Given the description of an element on the screen output the (x, y) to click on. 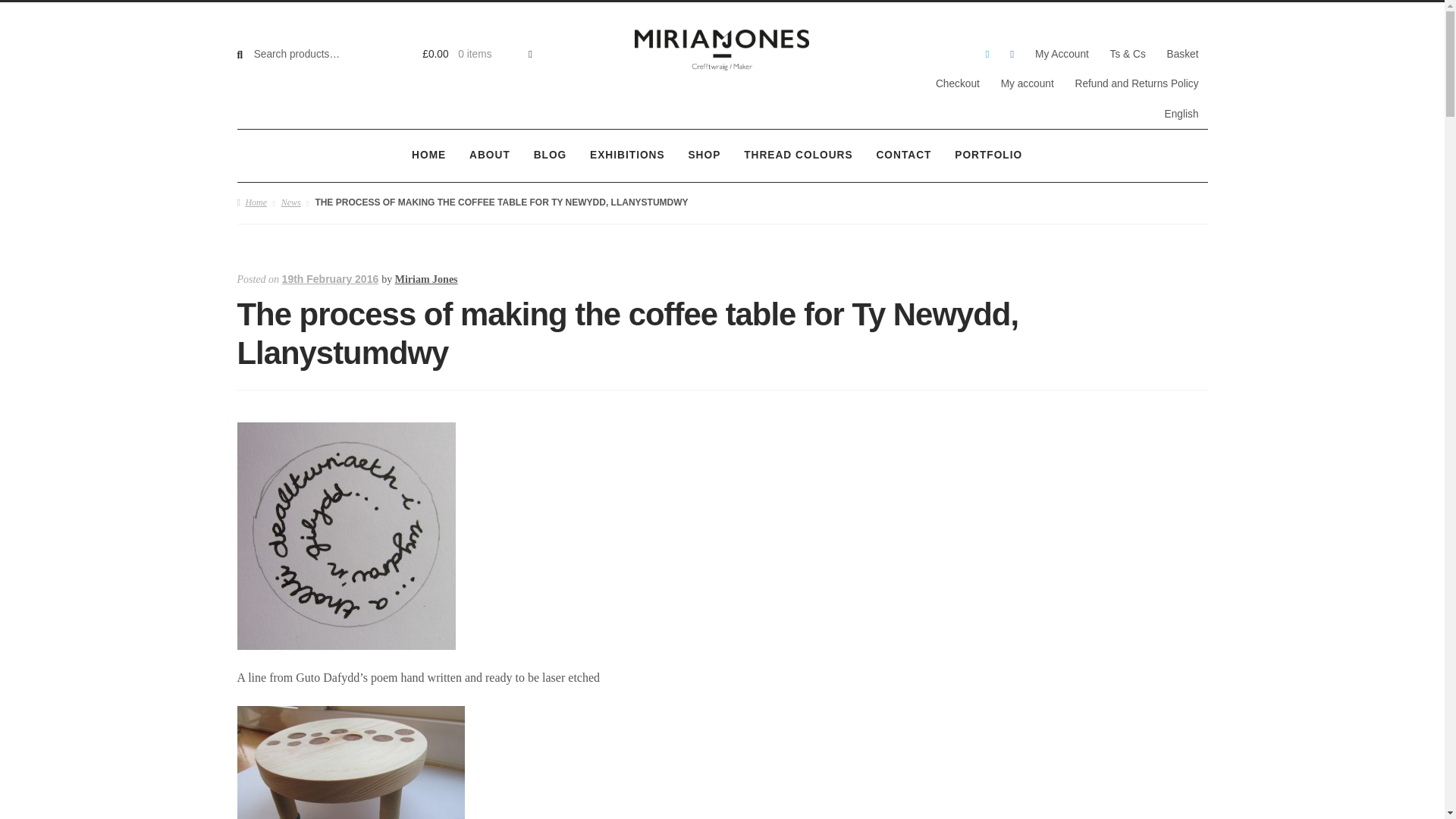
English (1182, 113)
Basket (1182, 54)
English (1182, 113)
HOME (429, 155)
News (291, 202)
View your shopping basket (469, 54)
THREAD COLOURS (798, 155)
CONTACT (904, 155)
